Given the description of an element on the screen output the (x, y) to click on. 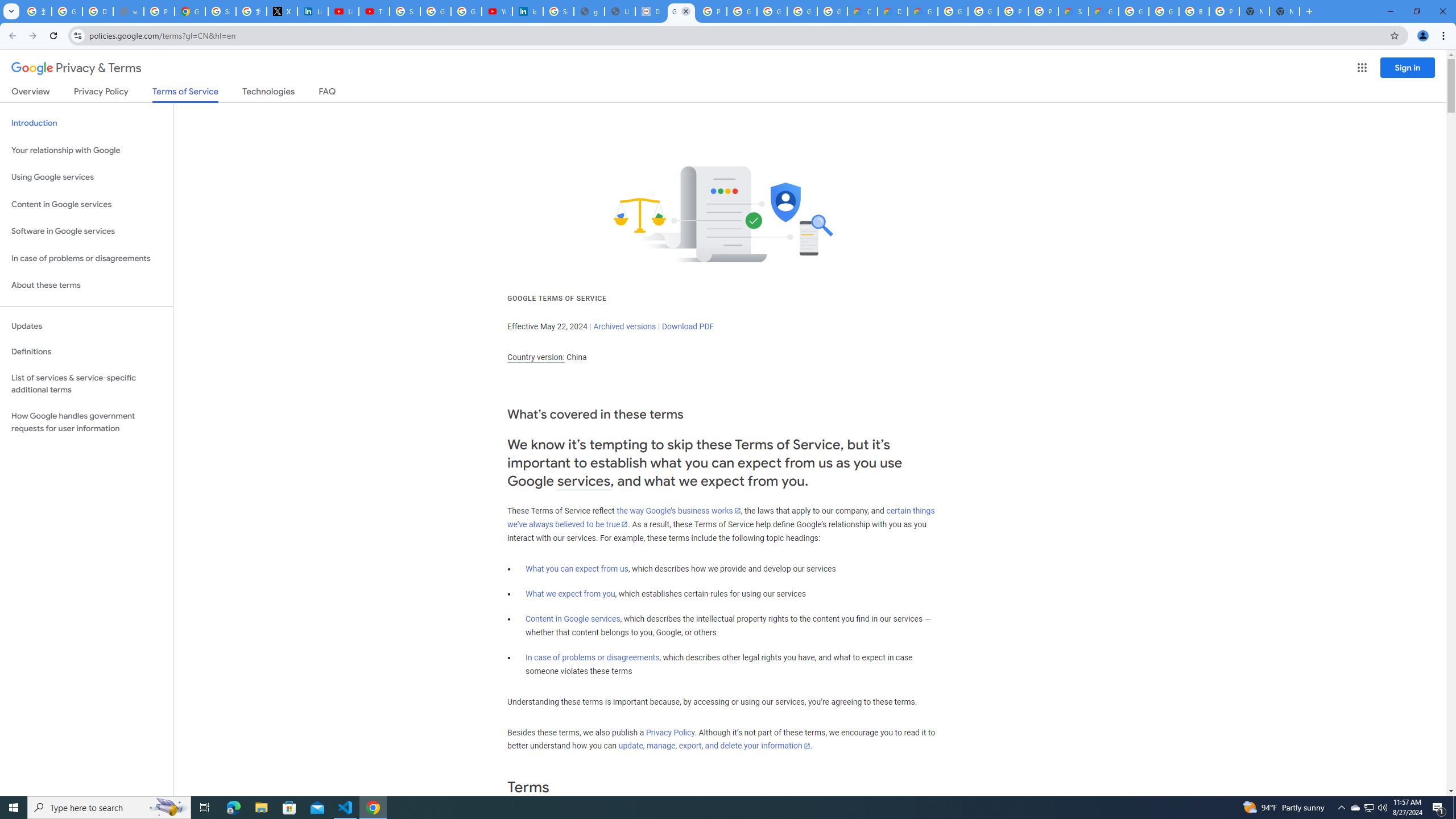
Sign in - Google Accounts (404, 11)
Your relationship with Google (86, 150)
Google Workspace - Specific Terms (832, 11)
Definitions (86, 352)
services (583, 480)
